Given the description of an element on the screen output the (x, y) to click on. 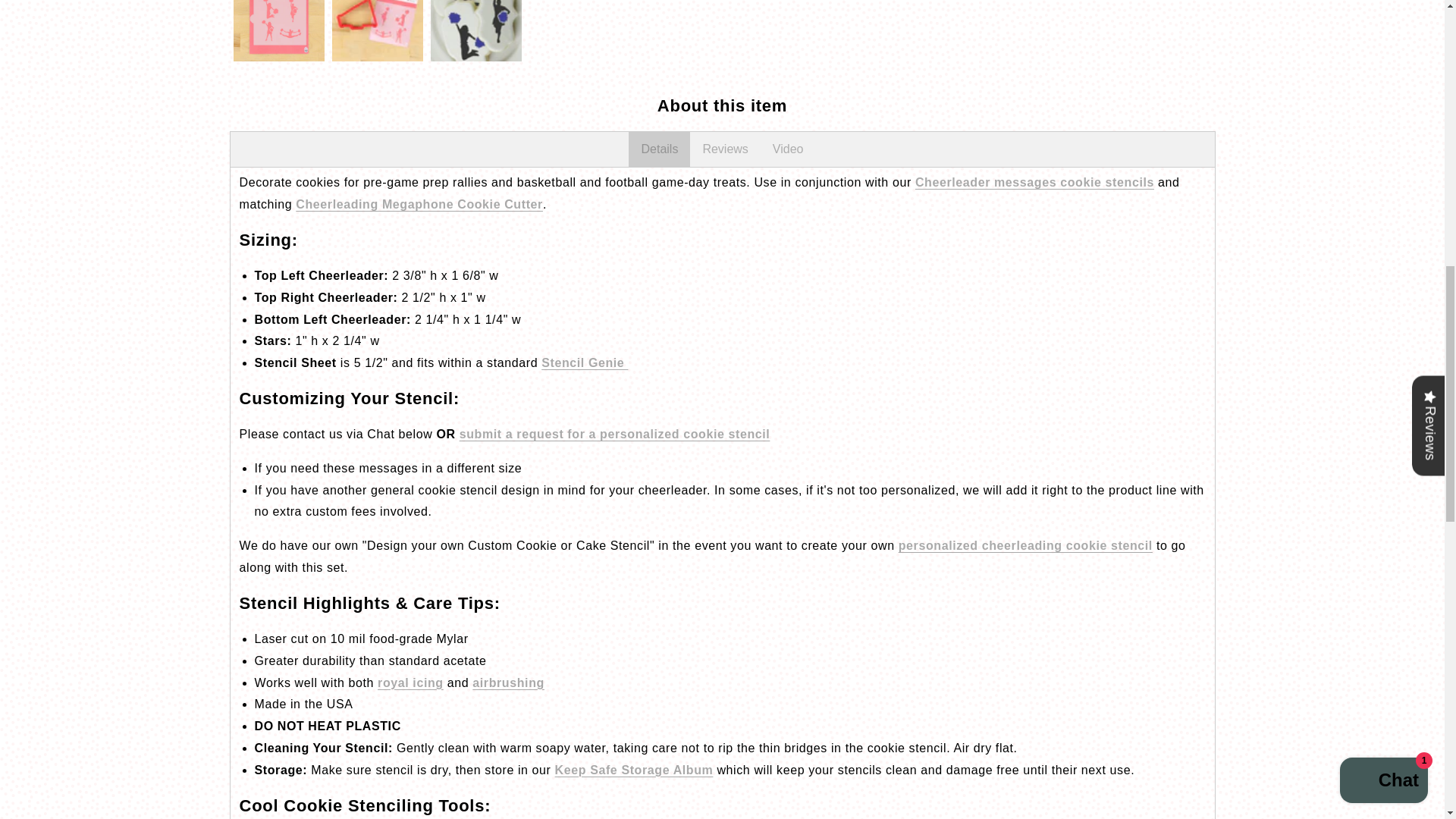
AirGenie Airbrush System (507, 682)
Design your own Custom Cookie or Cake Stencil (1025, 545)
Cheerleader Words Cookie Stencil (1034, 182)
Cheerleading Megaphone Cookie Cutter (419, 204)
Satin Ice Royal Icing Mix (410, 682)
Confection Couture Cookie Stencil keep safe Album (633, 769)
The Stencil Genie Cookie Decorating Tool (584, 362)
Custom Cookie, Cake or Culinary Stencils (615, 433)
